Given the description of an element on the screen output the (x, y) to click on. 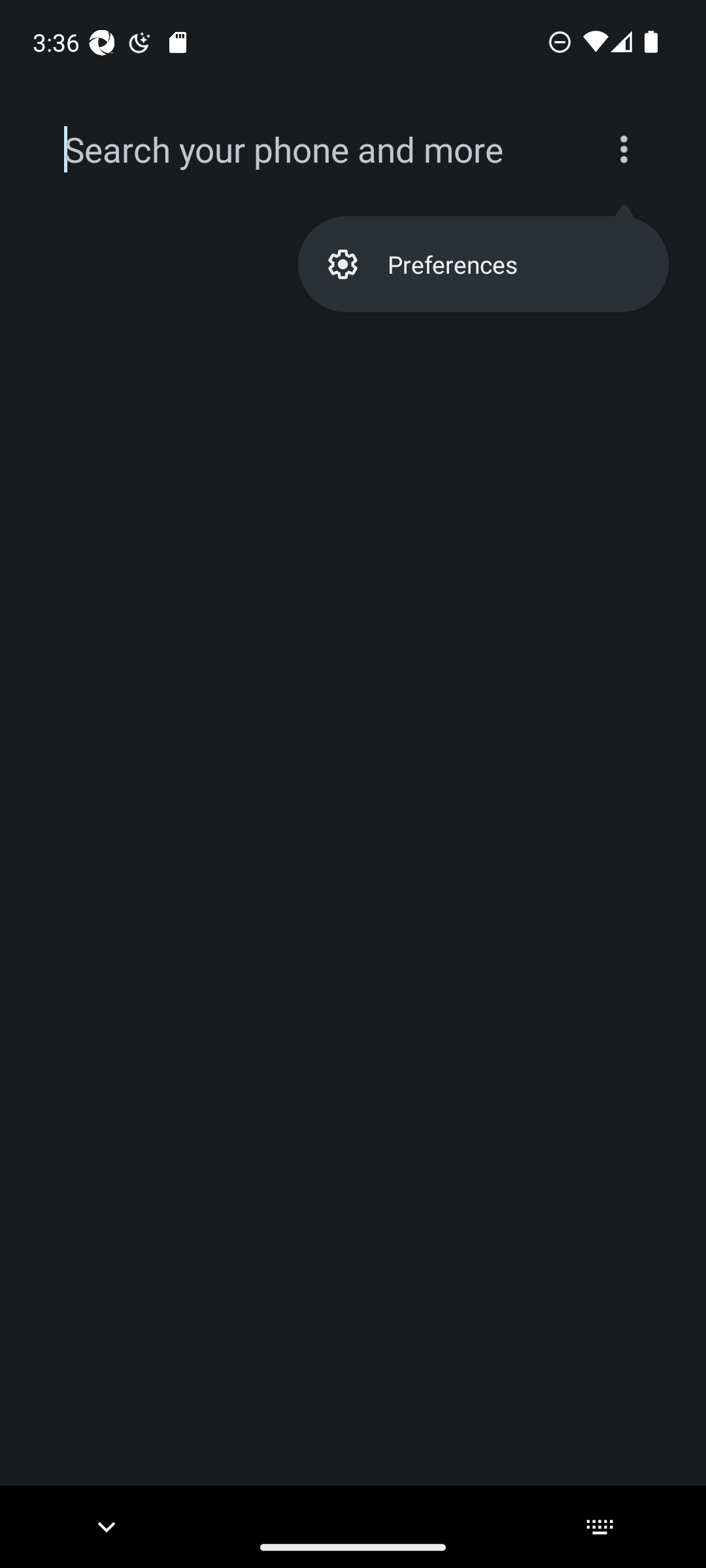
Preferences (482, 264)
